Given the description of an element on the screen output the (x, y) to click on. 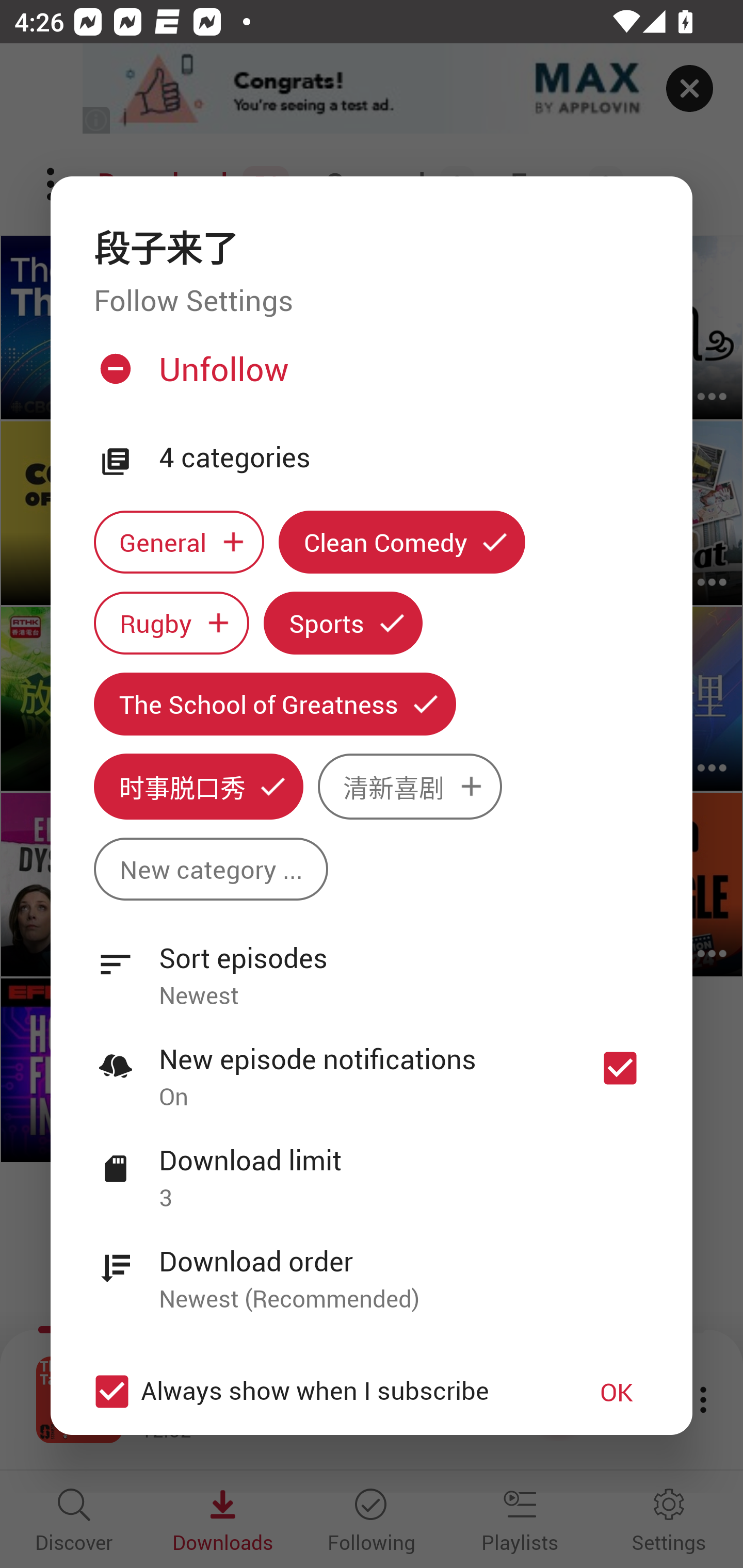
Unfollow (369, 376)
4 categories (404, 457)
General (178, 542)
Clean Comedy (401, 542)
Rugby (170, 622)
Sports (342, 622)
The School of Greatness (274, 703)
时事脱口秀 (198, 787)
清新喜剧 (410, 787)
New category ... (210, 868)
Sort episodes Newest (371, 965)
New episode notifications (620, 1068)
Download limit 3 (371, 1167)
Download order Newest (Recommended) (371, 1268)
OK (616, 1391)
Always show when I subscribe (320, 1391)
